Given the description of an element on the screen output the (x, y) to click on. 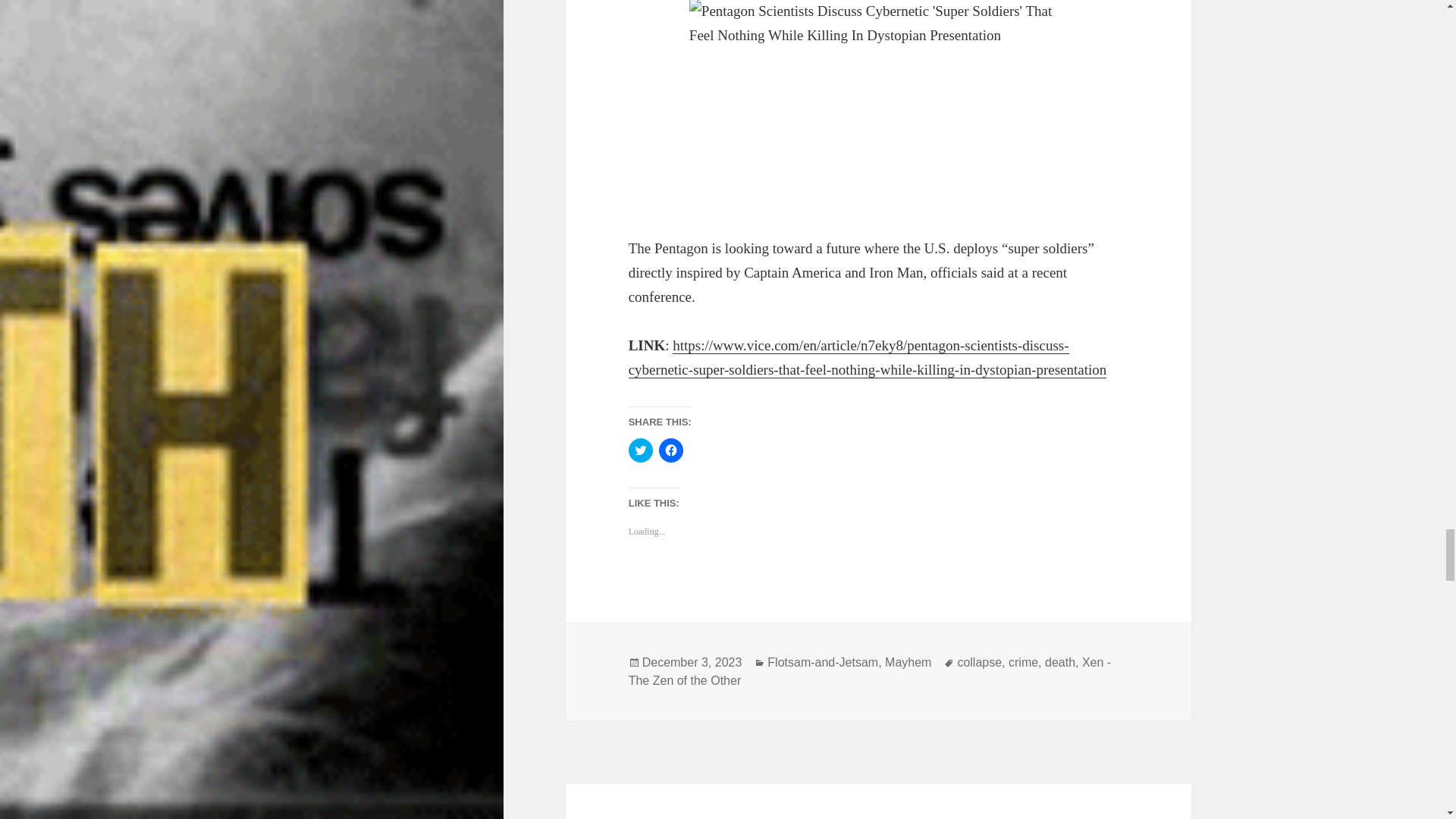
Click to share on Twitter (640, 450)
Click to share on Facebook (670, 450)
